Given the description of an element on the screen output the (x, y) to click on. 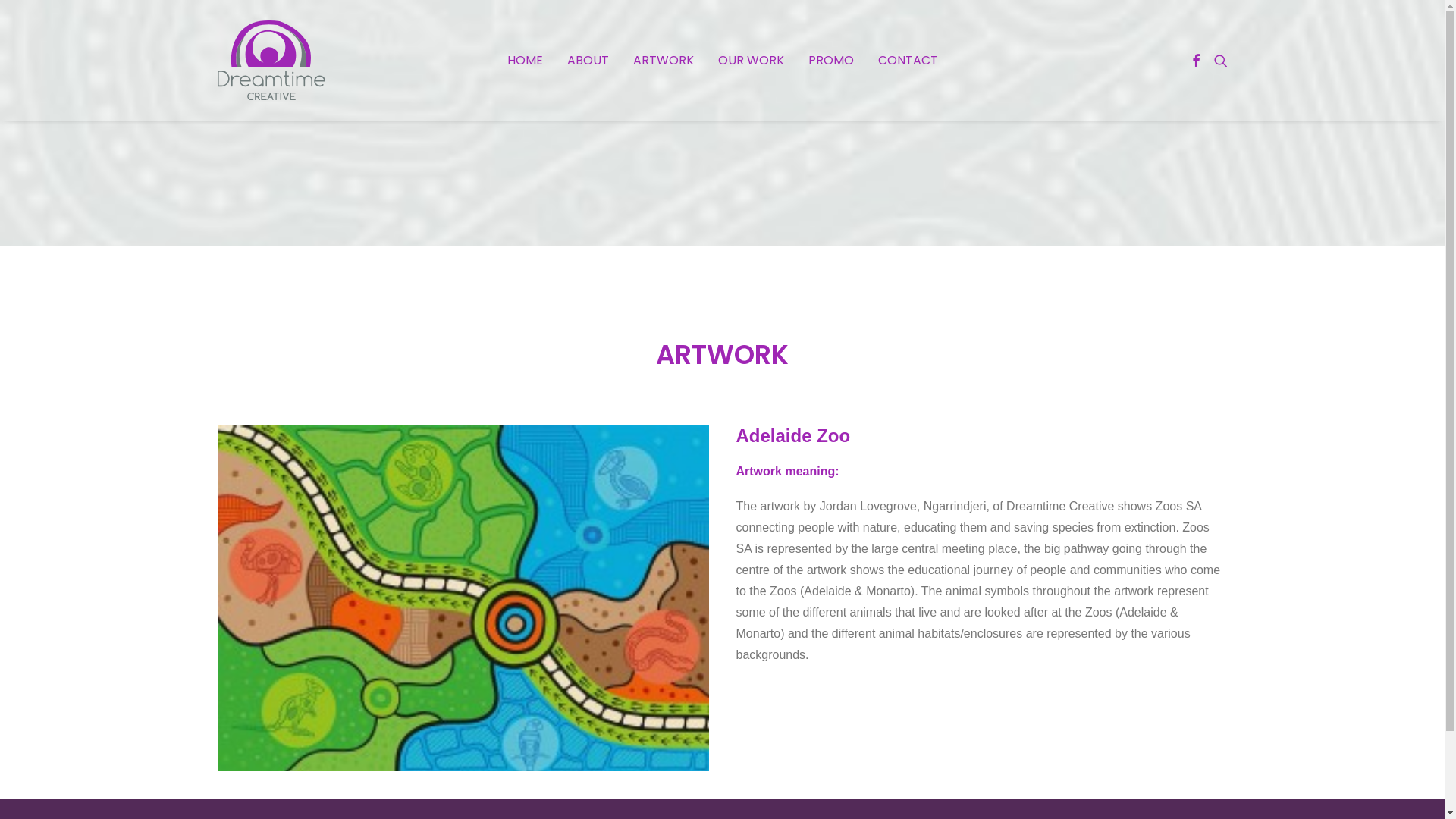
CONTACT Element type: text (907, 60)
ABOUT Element type: text (587, 60)
PROMO Element type: text (830, 60)
HOME Element type: text (523, 60)
OUR WORK Element type: text (749, 60)
ARTWORK Element type: text (662, 60)
